Given the description of an element on the screen output the (x, y) to click on. 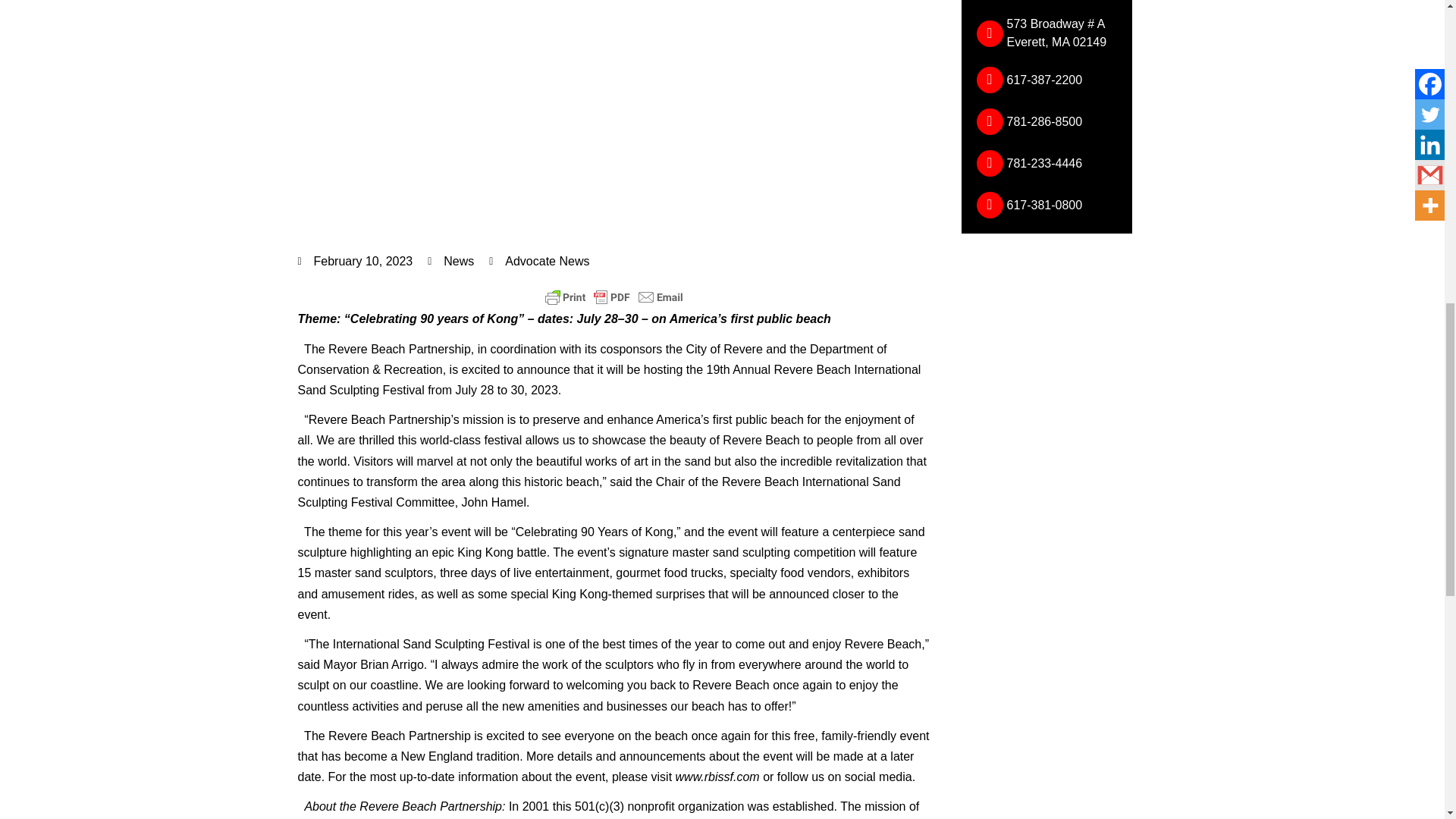
News (459, 260)
February 10, 2023 (354, 261)
Advocate News (539, 261)
